Given the description of an element on the screen output the (x, y) to click on. 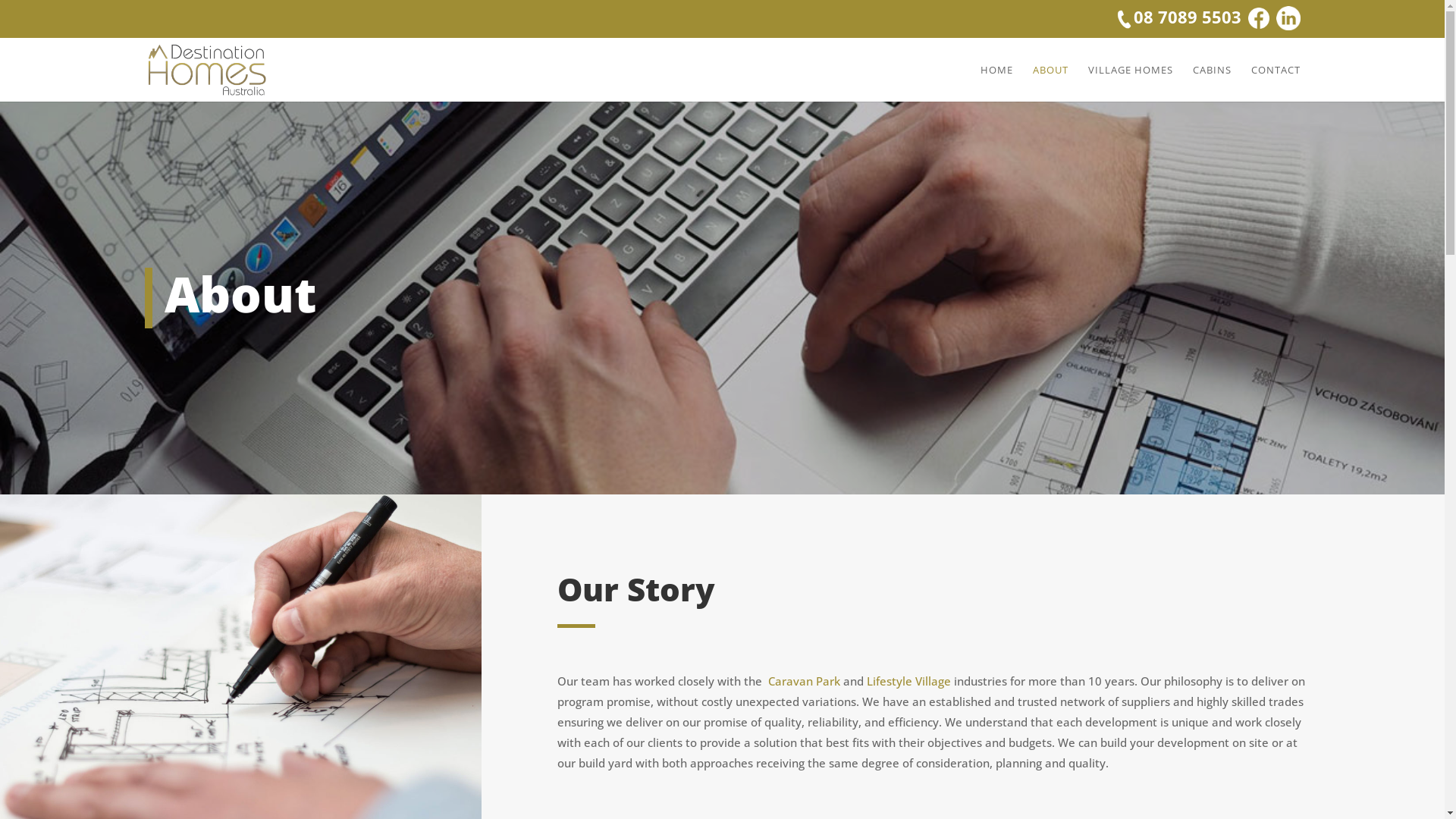
CABINS Element type: text (1211, 82)
CONTACT Element type: text (1275, 82)
Lifestyle Village Element type: text (909, 680)
ABOUT Element type: text (1050, 82)
HOME Element type: text (995, 82)
08 7089 5503 Element type: text (1177, 18)
VILLAGE HOMES Element type: text (1129, 82)
Caravan Park Element type: text (804, 680)
